Given the description of an element on the screen output the (x, y) to click on. 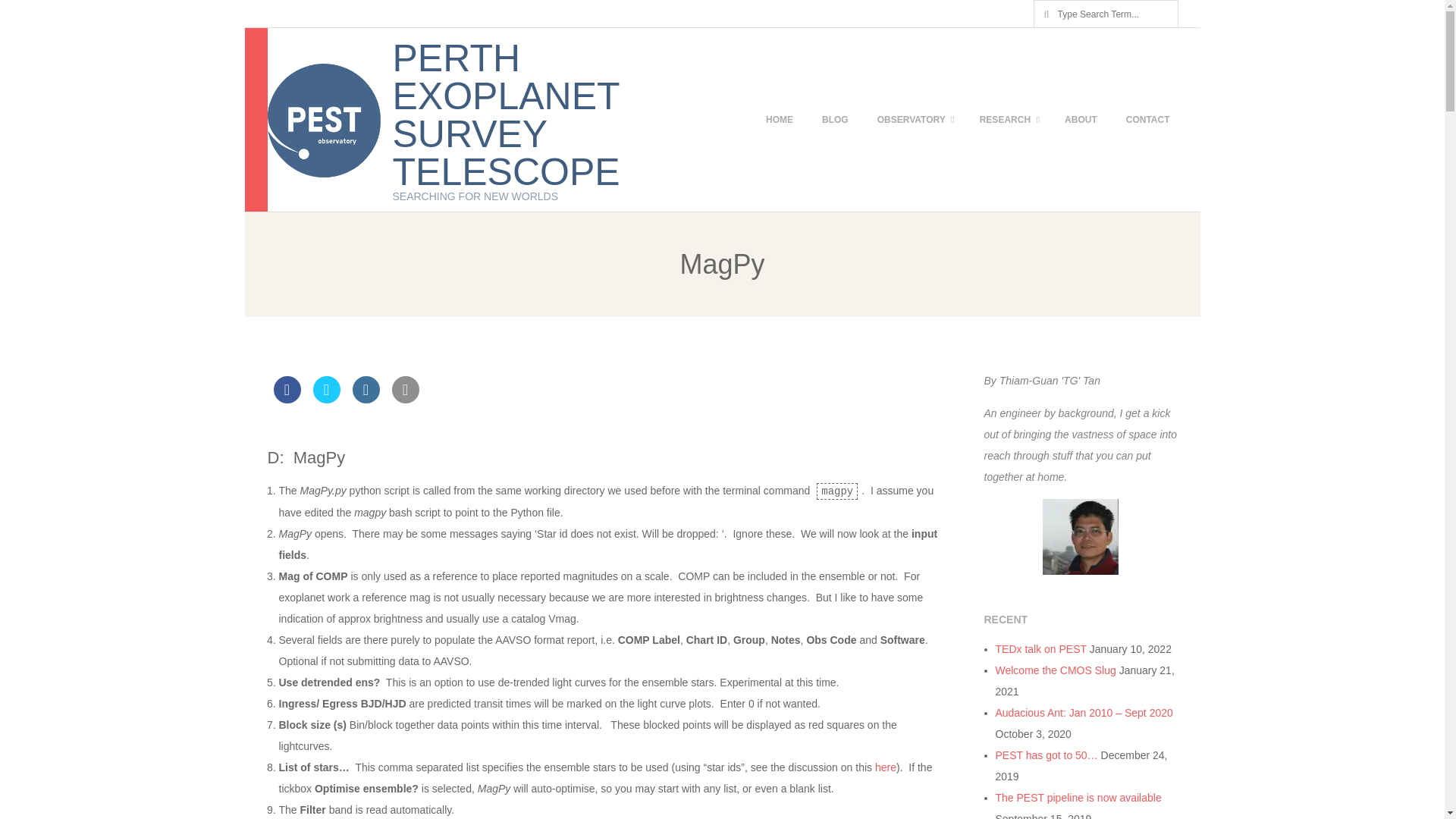
The PEST pipeline is now available (1077, 797)
HOME (779, 119)
PERTH EXOPLANET SURVEY TELESCOPE (506, 114)
ABOUT (1081, 119)
here (885, 767)
OBSERVATORY (913, 119)
Welcome the CMOS Slug (1054, 670)
TEDx talk on PEST (1040, 648)
RESEARCH (1007, 119)
BLOG (834, 119)
CONTACT (1147, 119)
